Given the description of an element on the screen output the (x, y) to click on. 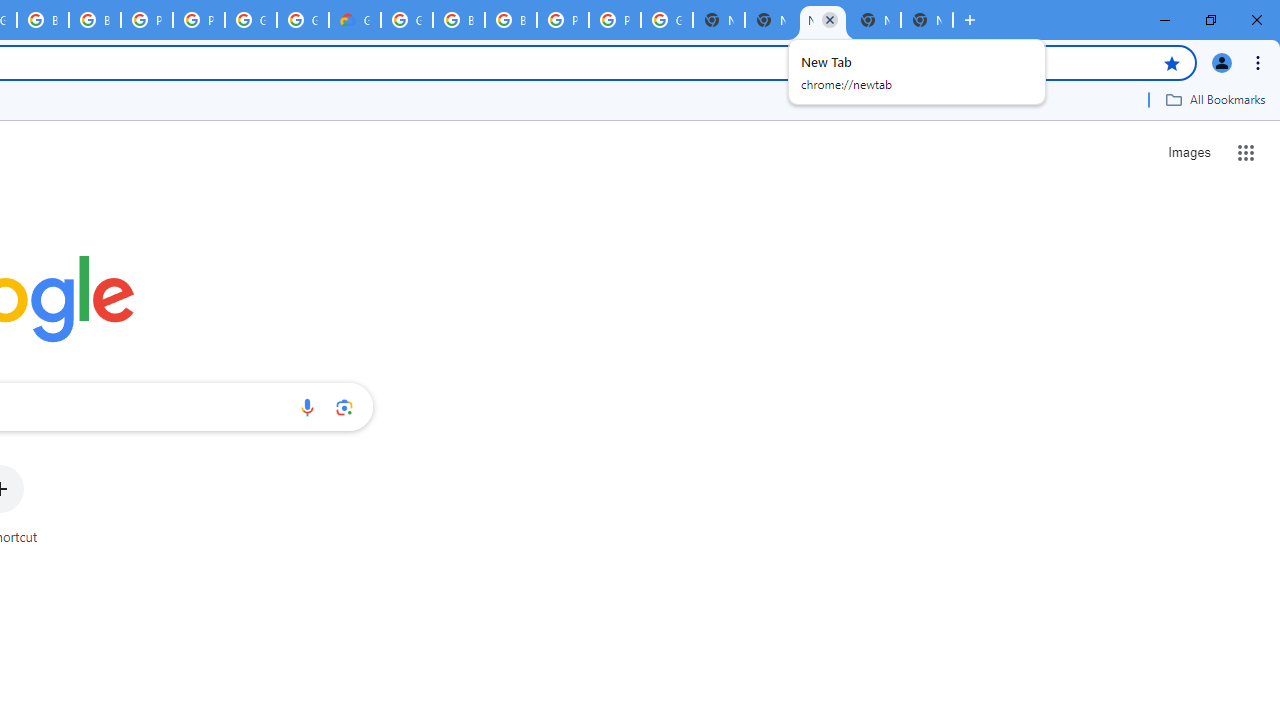
Browse Chrome as a guest - Computer - Google Chrome Help (42, 20)
Google Cloud Estimate Summary (355, 20)
Google Cloud Platform (406, 20)
Browse Chrome as a guest - Computer - Google Chrome Help (458, 20)
New Tab (771, 20)
